Given the description of an element on the screen output the (x, y) to click on. 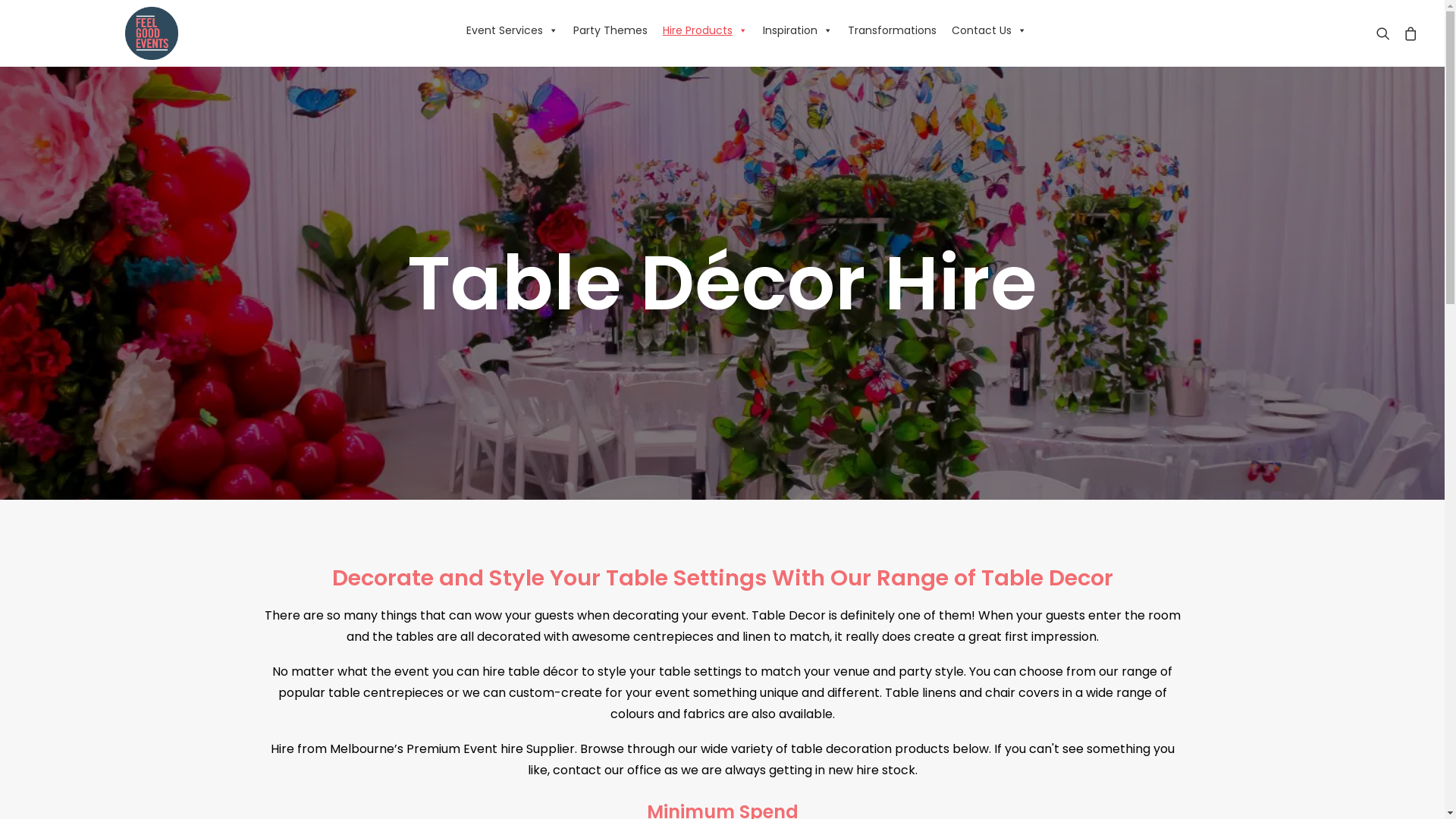
Inspiration Element type: text (797, 30)
Hire Products Element type: text (705, 30)
Transformations Element type: text (892, 30)
Contact Us Element type: text (989, 30)
Event Services Element type: text (511, 30)
cart Element type: hover (1407, 33)
Party Themes Element type: text (610, 30)
